Given the description of an element on the screen output the (x, y) to click on. 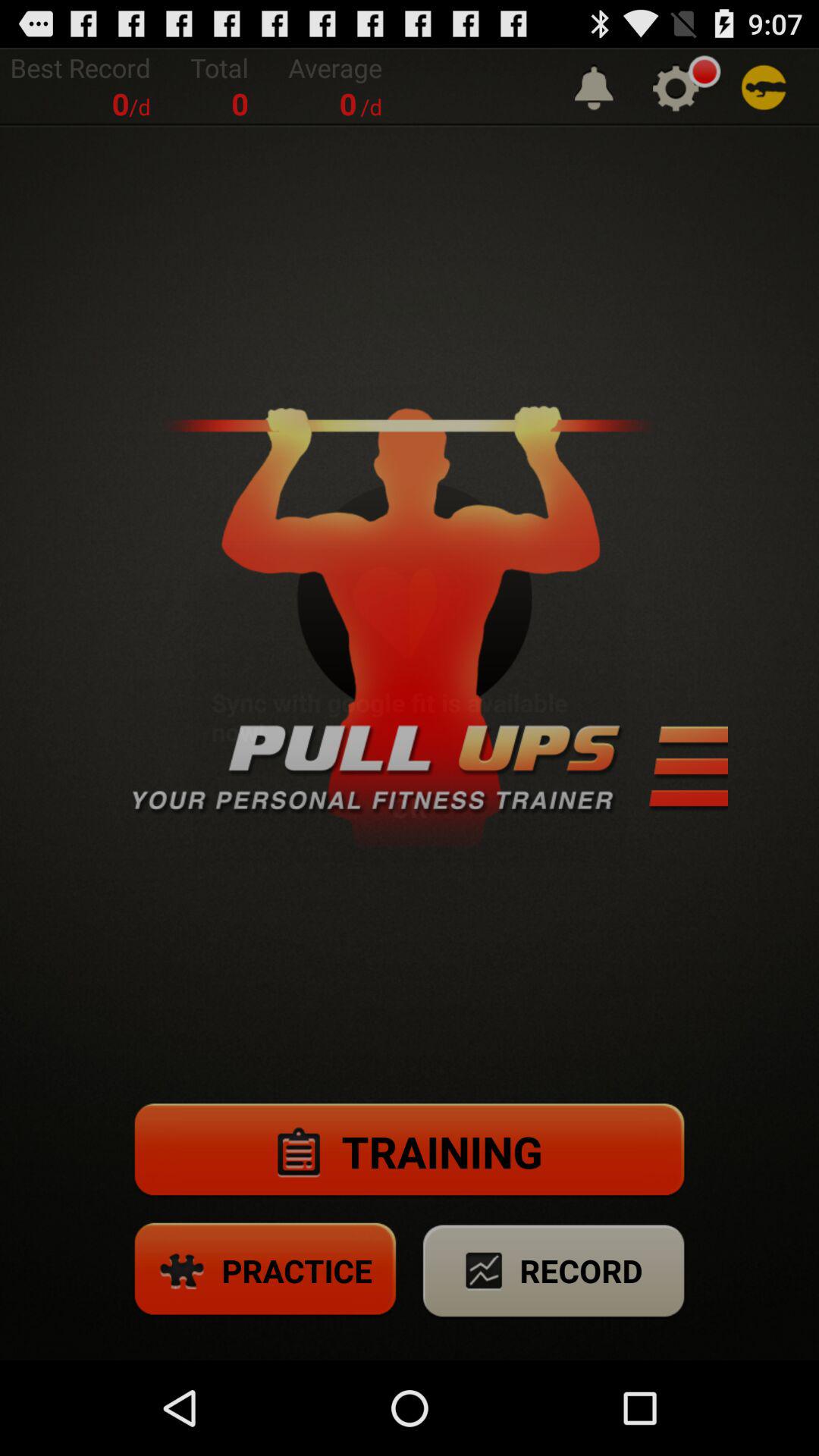
tap the icon next to average item (594, 87)
